Given the description of an element on the screen output the (x, y) to click on. 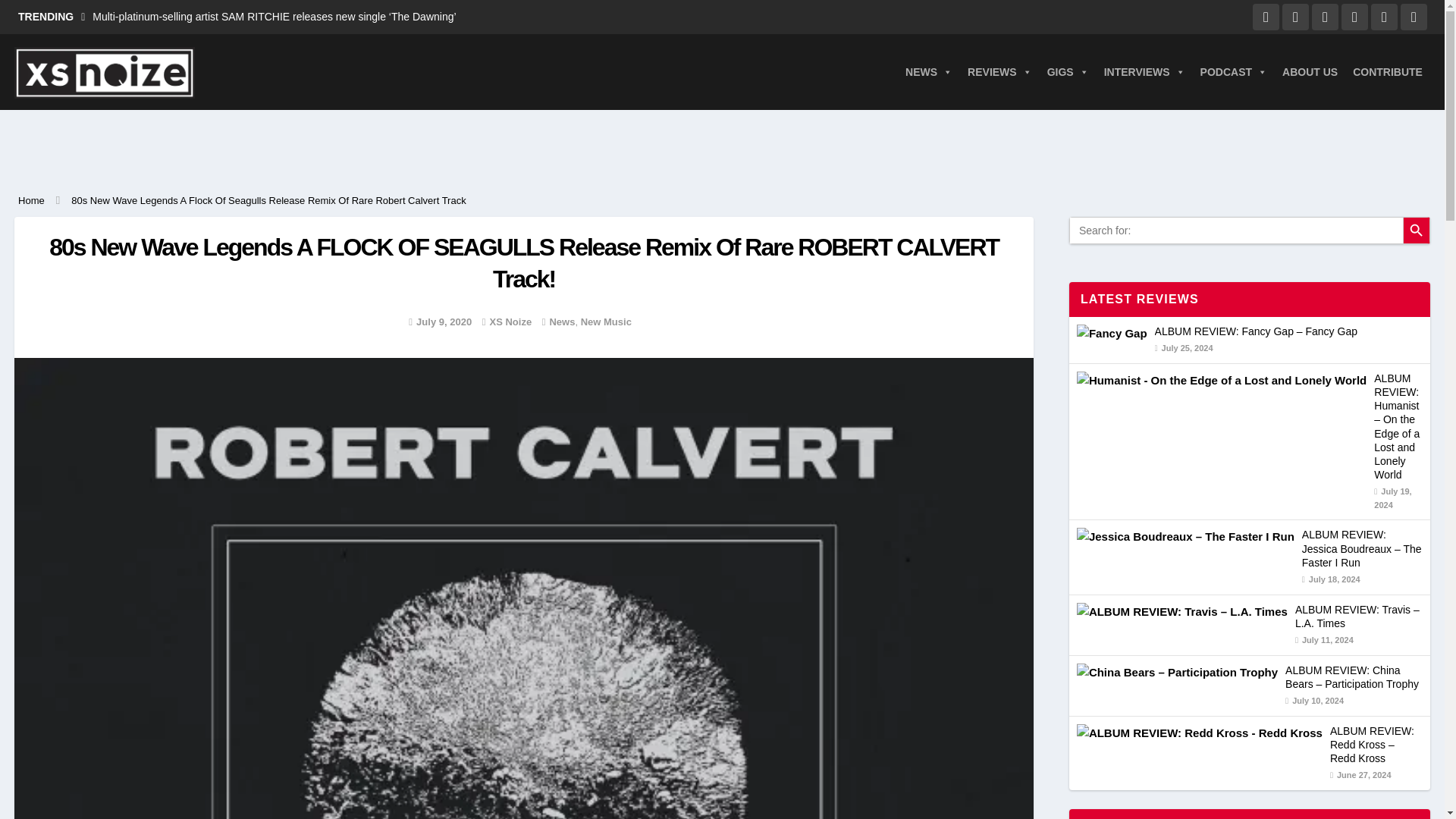
NEWS (928, 71)
REVIEWS (999, 71)
